Given the description of an element on the screen output the (x, y) to click on. 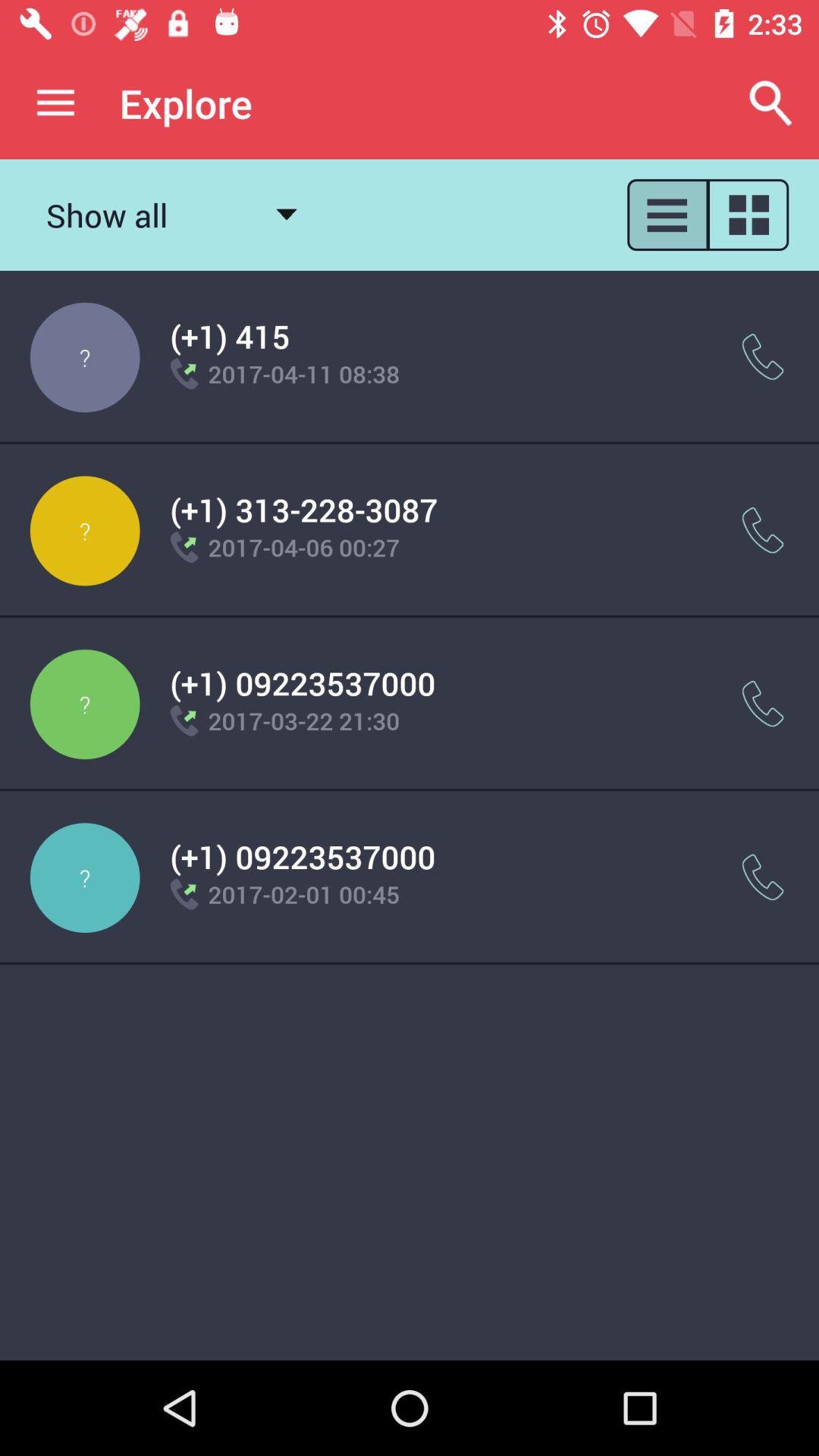
initiate calling option (762, 530)
